Given the description of an element on the screen output the (x, y) to click on. 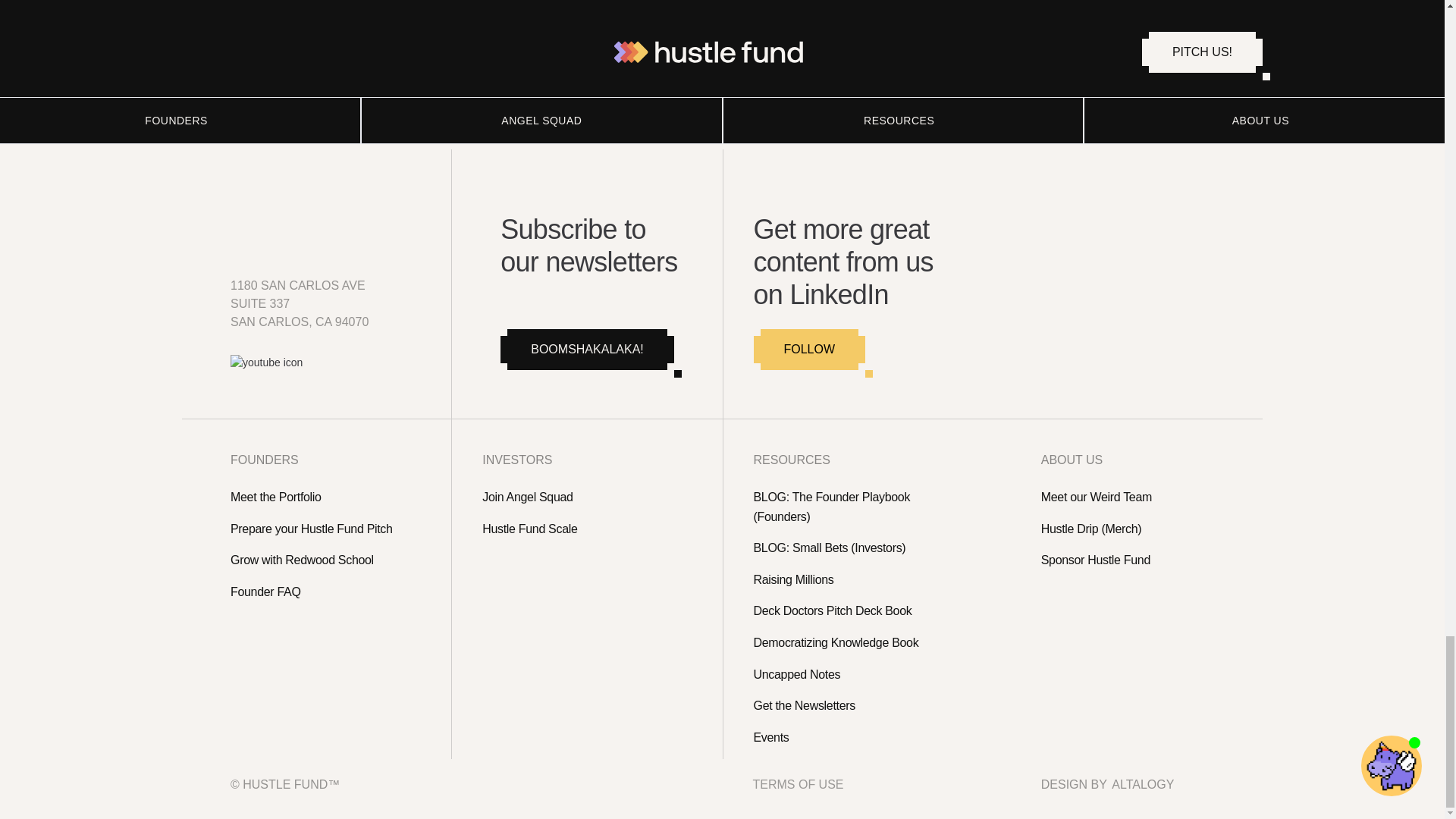
Founder FAQ (328, 591)
Sponsor Hustle Fund (1133, 560)
Raising Millions (861, 579)
Meet our Weird Team (1133, 496)
Uncapped Notes (861, 674)
Democratizing Knowledge Book (861, 642)
Hustle Fund Scale (589, 528)
FOLLOW (810, 349)
Get the Newsletters (861, 705)
Deck Doctors Pitch Deck Book (861, 610)
BOOMSHAKALAKA! (587, 349)
Join Angel Squad (589, 496)
Prepare your Hustle Fund Pitch (328, 528)
Meet the Portfolio (328, 496)
Events (861, 737)
